Given the description of an element on the screen output the (x, y) to click on. 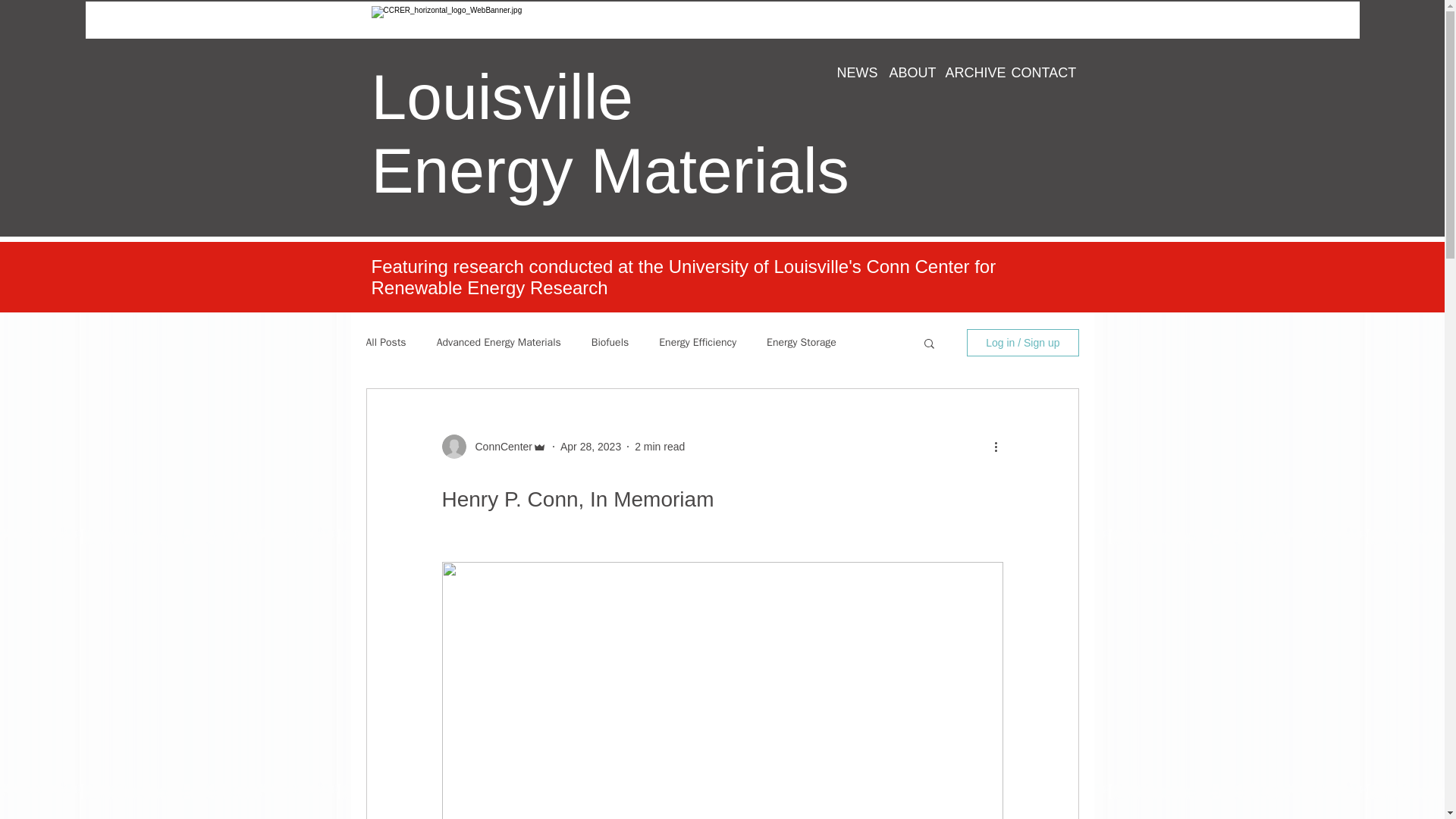
ABOUT (905, 72)
Advanced Energy Materials (498, 342)
Biofuels (609, 342)
ARCHIVE (967, 72)
Apr 28, 2023 (590, 445)
Energy Efficiency (697, 342)
Louisville (502, 96)
Energy Materials (609, 170)
Energy Storage (801, 342)
ConnCenter (498, 446)
2 min read (659, 445)
All Posts (385, 342)
NEWS (851, 72)
CONTACT (1032, 72)
